Given the description of an element on the screen output the (x, y) to click on. 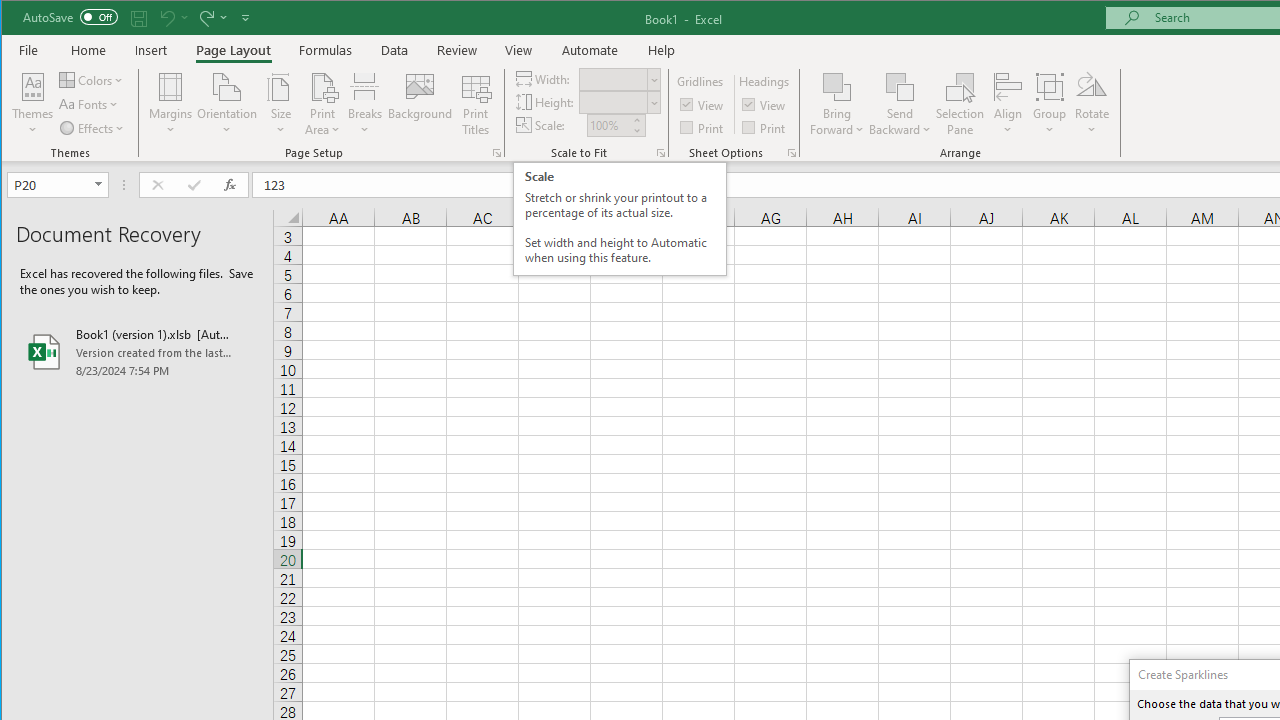
Book1 (version 1).xlsb  [AutoRecovered] (137, 352)
Save (139, 17)
Scale (607, 125)
Home (88, 50)
Width (619, 78)
Size (280, 104)
Height (612, 102)
Fonts (90, 103)
AutoSave (70, 16)
Quick Access Toolbar (137, 17)
Help (661, 50)
Selection Pane... (960, 104)
